Given the description of an element on the screen output the (x, y) to click on. 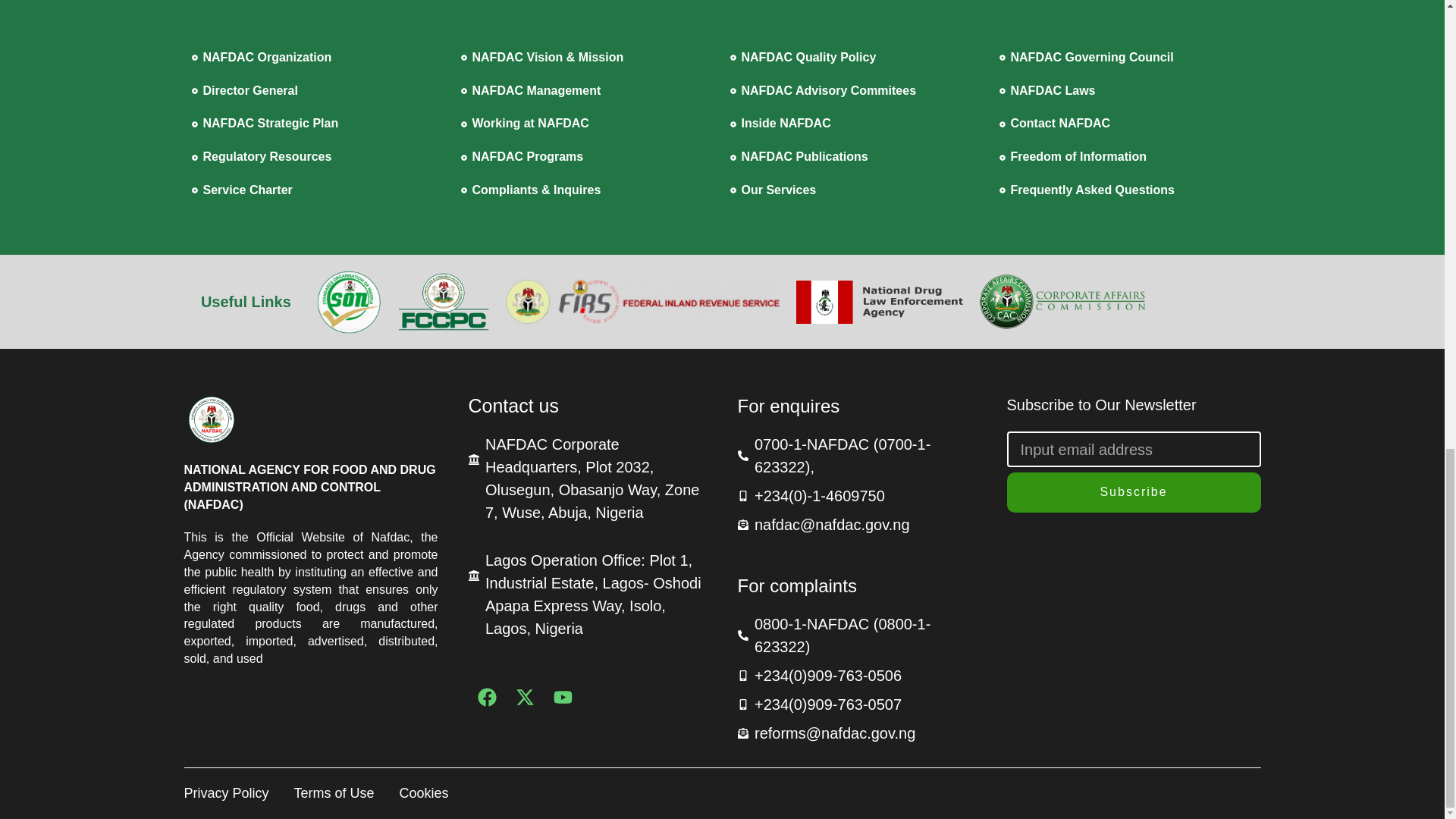
Working at NAFDAC (587, 124)
NAFDAC Strategic Plan (317, 124)
Regulatory Resources (317, 157)
Our Services (856, 190)
NAFDAC Management (587, 91)
NAFDAC Advisory Commitees (856, 91)
NAFDAC Programs (587, 157)
NAFDAC Publications (856, 157)
Service Charter (317, 190)
Inside NAFDAC (856, 124)
NAFDAC Laws (1125, 91)
Freedom of Information (1125, 157)
NAFDAC Quality Policy (856, 57)
Contact NAFDAC (1125, 124)
NAFDAC Governing Council (1125, 57)
